Given the description of an element on the screen output the (x, y) to click on. 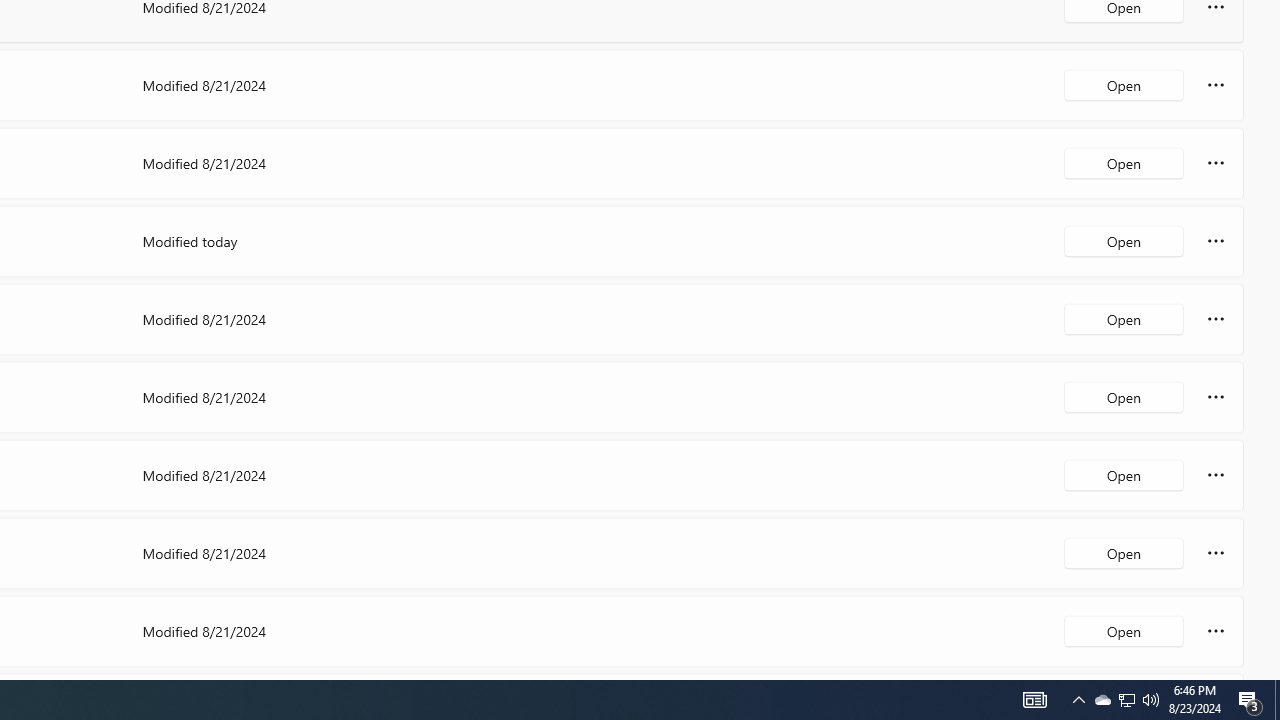
Open (1123, 630)
Vertical Small Increase (1272, 672)
More options (1215, 630)
